Given the description of an element on the screen output the (x, y) to click on. 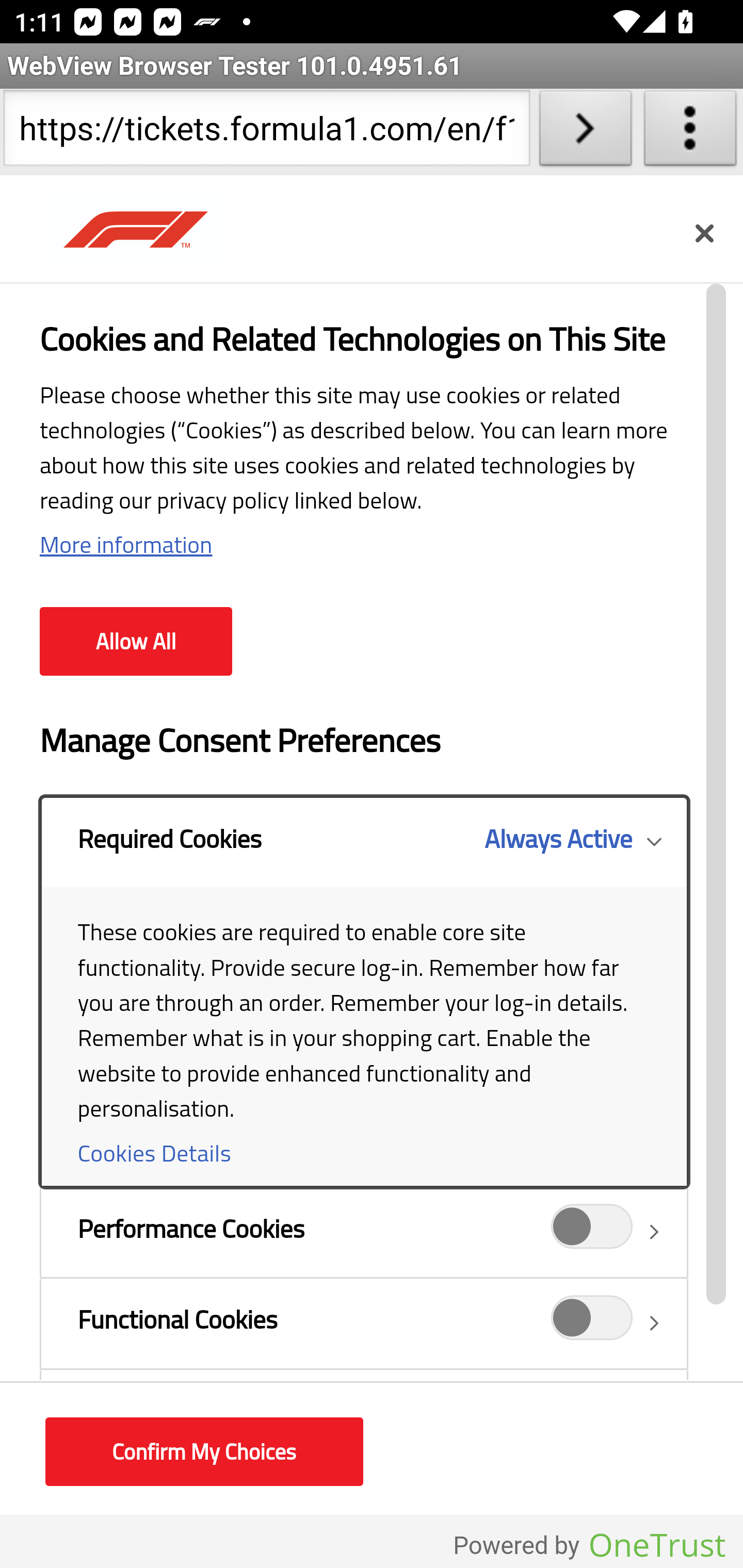
Load URL (585, 132)
About WebView (690, 132)
Next slide Previous slide (371, 505)
Allow All (135, 641)
Required Cookies (363, 991)
Performance Cookies (363, 1231)
Performance Cookies (591, 1232)
Functional Cookies (363, 1322)
Functional Cookies (591, 1323)
Confirm My Choices (203, 1452)
Powered by OneTrust Opens in a new Tab (589, 1545)
